Given the description of an element on the screen output the (x, y) to click on. 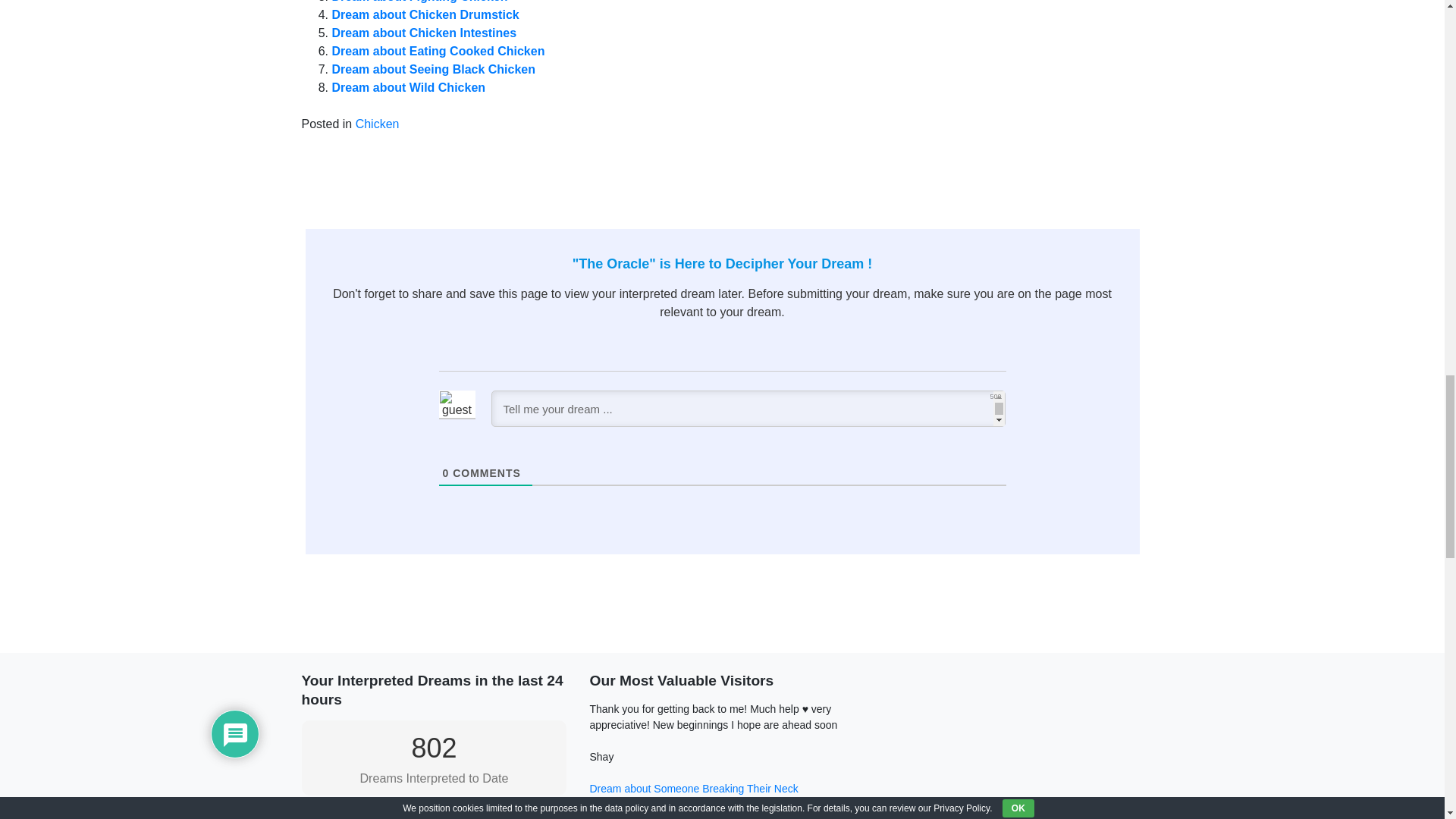
Dream about Wild Chicken (408, 87)
Dream about Chicken Drumstick (425, 14)
Dream about Eating Cooked Chicken (437, 51)
Dream about Seeing Black Chicken (433, 69)
Chicken (376, 123)
Dream about Fighting Chicken (419, 1)
Dream about Chicken Intestines (423, 32)
Dream about Chicken Intestines (423, 32)
Dream about Someone Breaking Their Neck (693, 788)
Dream about Fighting Chicken (419, 1)
